Given the description of an element on the screen output the (x, y) to click on. 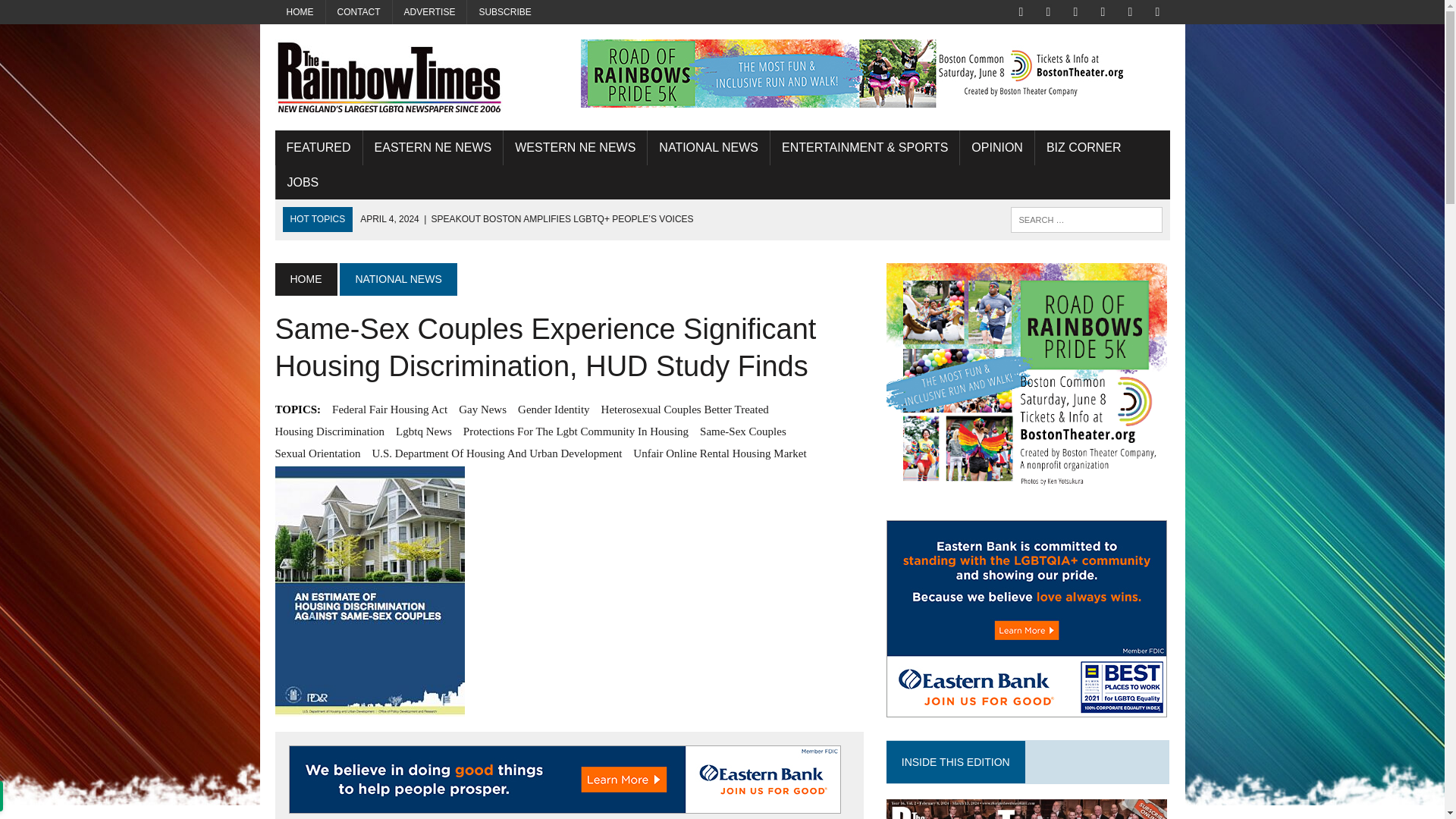
CONTACT (358, 12)
OPINION (996, 147)
HOME (299, 12)
EASTERN NE NEWS (432, 147)
ADVERTISE (430, 12)
WESTERN NE NEWS (574, 147)
NATIONAL NEWS (708, 147)
FEATURED (318, 147)
SUBSCRIBE (504, 12)
